Given the description of an element on the screen output the (x, y) to click on. 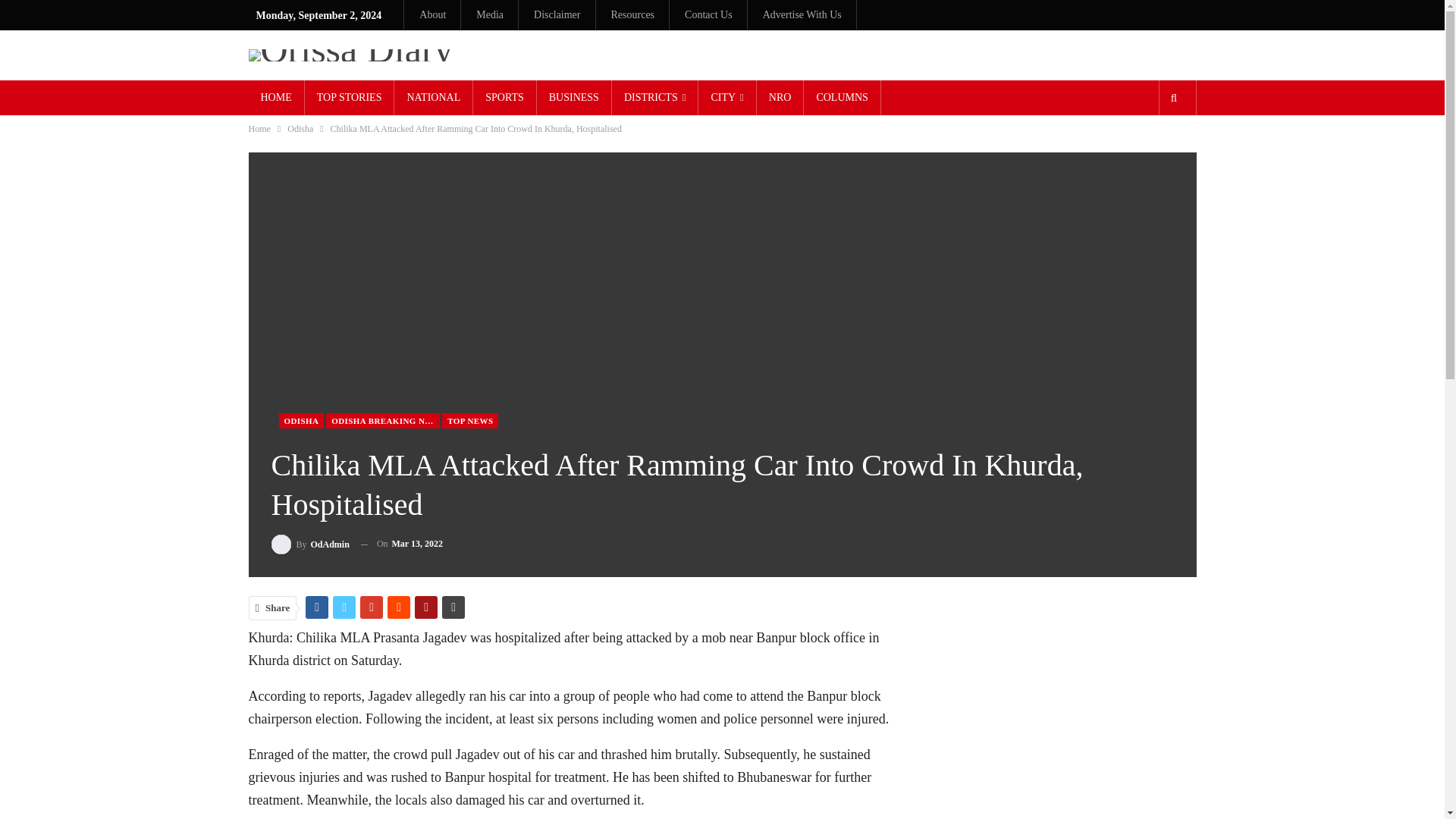
Resources (633, 14)
Disclaimer (556, 14)
DISTRICTS (654, 97)
TOP STORIES (349, 97)
Media (489, 14)
BUSINESS (574, 97)
Browse Author Articles (309, 543)
NATIONAL (432, 97)
Advertise With Us (801, 14)
Contact Us (708, 14)
